Given the description of an element on the screen output the (x, y) to click on. 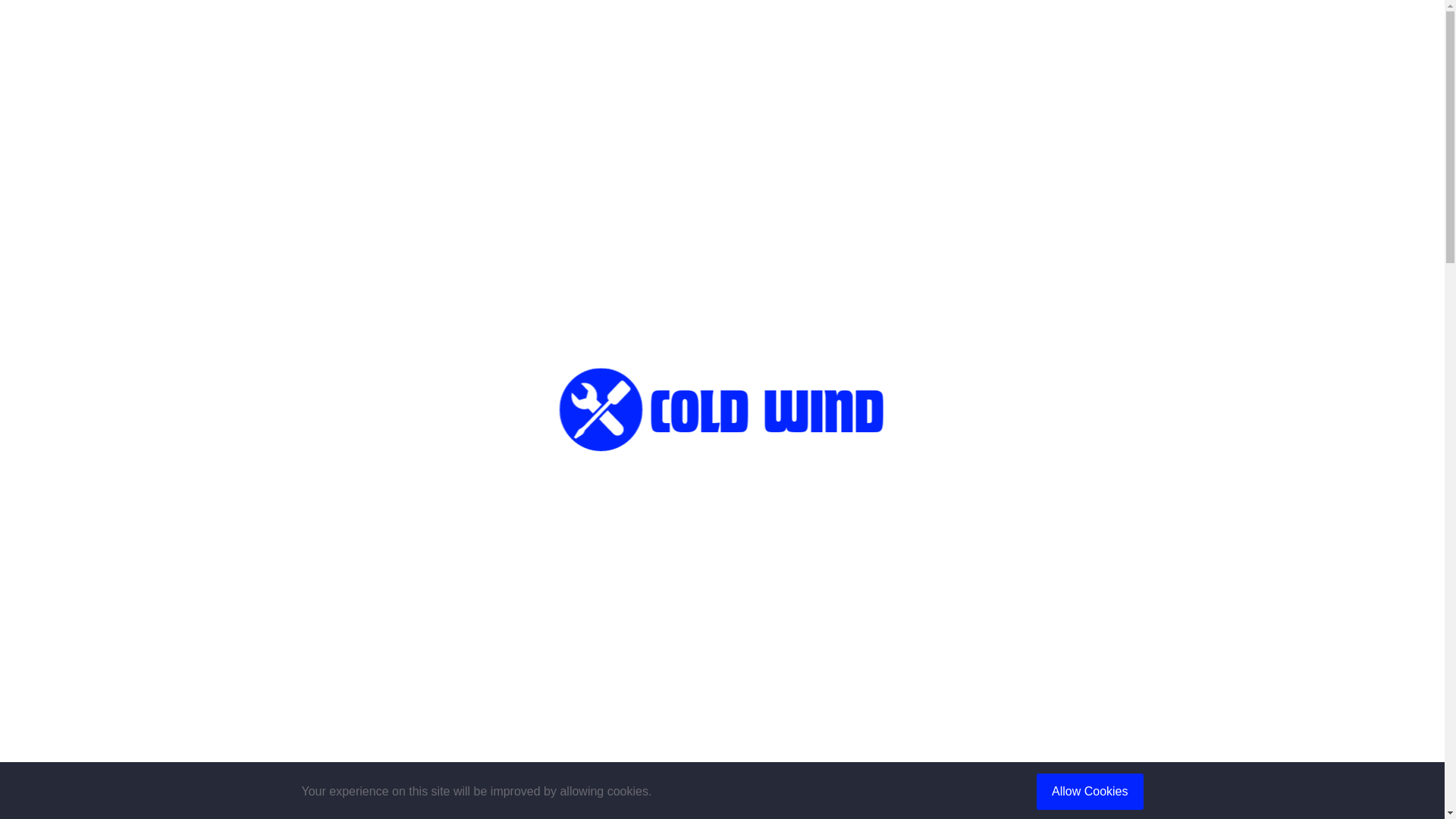
Login (1417, 16)
Air Conditioning (937, 664)
Packages (980, 73)
Contact (1172, 73)
Commercial Refrigerator (937, 700)
About Us (1079, 73)
Home (317, 298)
Repair and Maintenance (937, 737)
Get Quote (1366, 73)
Allow Cookies (1089, 791)
